Given the description of an element on the screen output the (x, y) to click on. 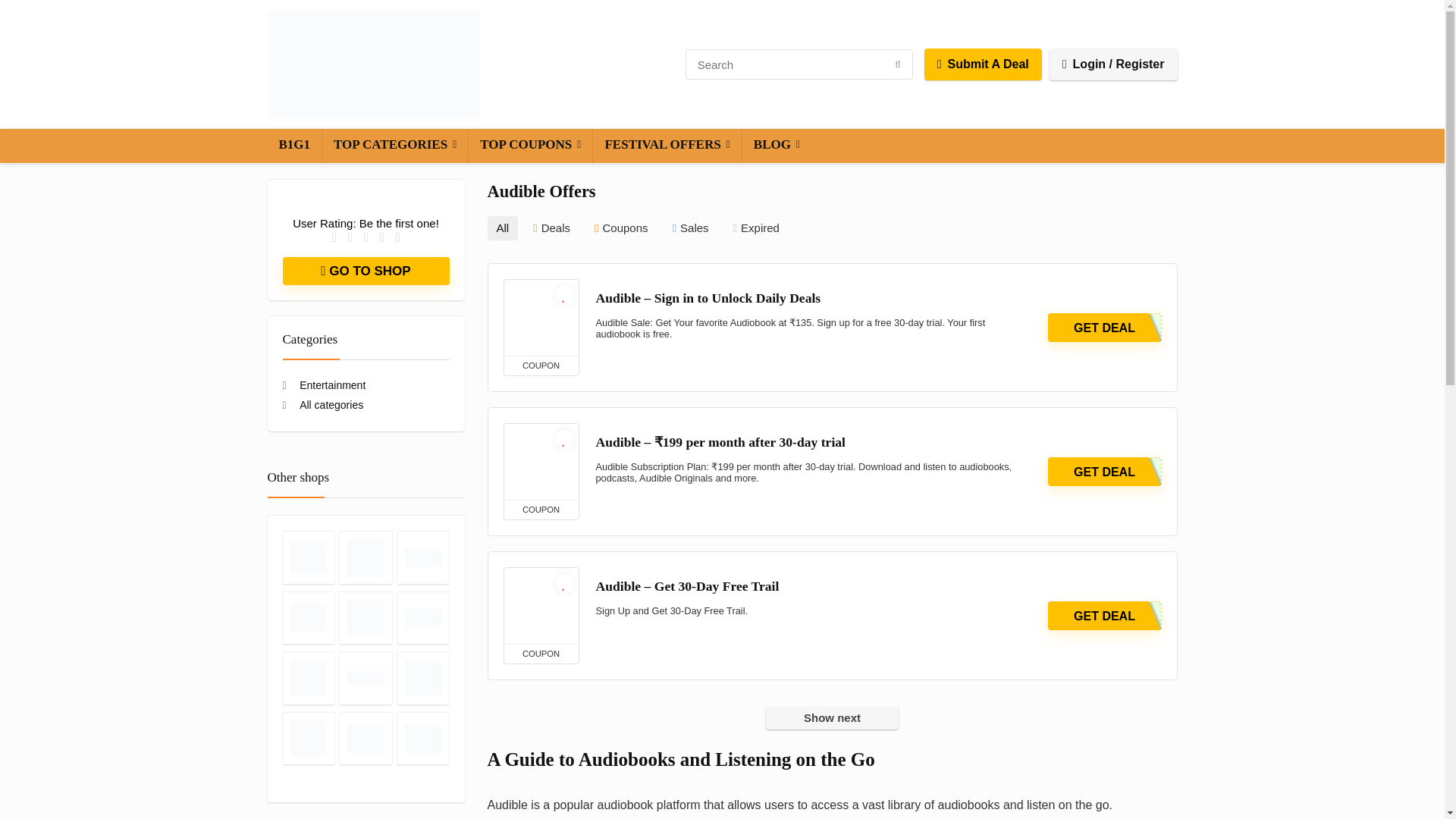
View all post filed under 5paisa Coupons (308, 737)
View all post filed under 1 Rupee Products (308, 556)
BLOG (776, 145)
Submit A Deal (983, 64)
View all post filed under 2Ballz Coupons (365, 677)
TOP COUPONS (530, 145)
View all post filed under 1800Flowers Coupons (423, 556)
View all post filed under 1800GiftPortal Coupons (308, 617)
View all post filed under 6th Street Coupons (365, 737)
View all post filed under 11 Wickets Coupons (365, 556)
View all post filed under 1xBet Coupons (308, 677)
TOP CATEGORIES (394, 145)
View all post filed under 1Win Coupons (423, 617)
B1G1 (293, 145)
View all post filed under 4700BC Popcorn Coupons (423, 677)
